Given the description of an element on the screen output the (x, y) to click on. 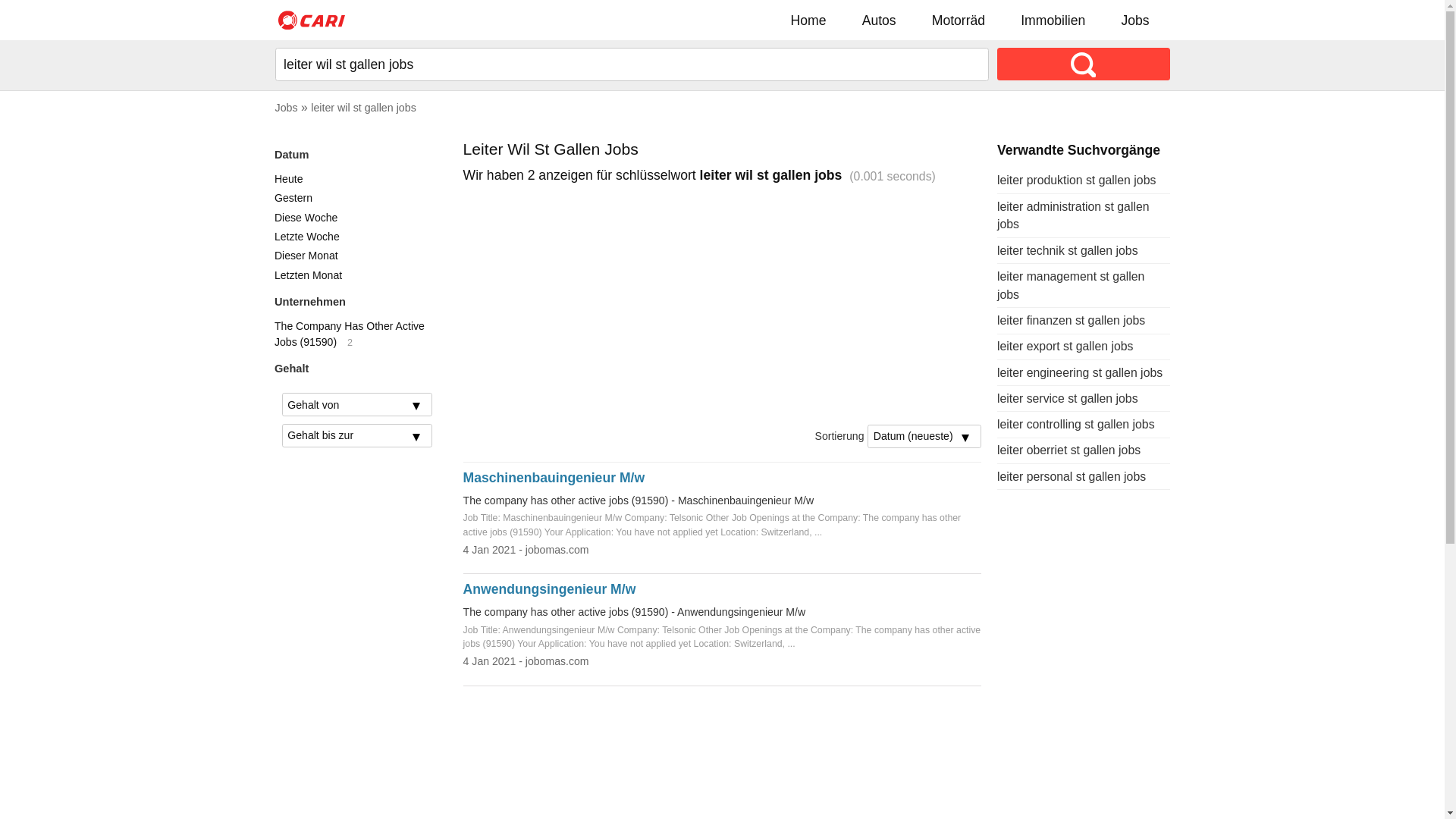
leiter service st gallen jobs Element type: text (1067, 398)
leiter controlling st gallen jobs Element type: text (1075, 423)
leiter technik st gallen jobs Element type: text (1067, 250)
Maschinenbauingenieur M/w Element type: text (554, 477)
leiter personal st gallen jobs Element type: text (1071, 476)
leiter finanzen st gallen jobs Element type: text (1071, 319)
Autos Element type: text (879, 20)
Anwendungsingenieur M/w Element type: text (549, 588)
leiter wil st gallen jobs Element type: text (363, 107)
leiter oberriet st gallen jobs Element type: text (1068, 449)
Jobs Element type: text (1135, 20)
leiter export st gallen jobs Element type: text (1064, 345)
Home Element type: text (808, 20)
leiter engineering st gallen jobs Element type: text (1079, 372)
leiter produktion st gallen jobs Element type: text (1076, 179)
Immobilien Element type: text (1052, 20)
leiter management st gallen jobs Element type: text (1070, 285)
Jobs Element type: text (285, 107)
leiter administration st gallen jobs Element type: text (1073, 215)
Advertisement Element type: hover (722, 304)
